Given the description of an element on the screen output the (x, y) to click on. 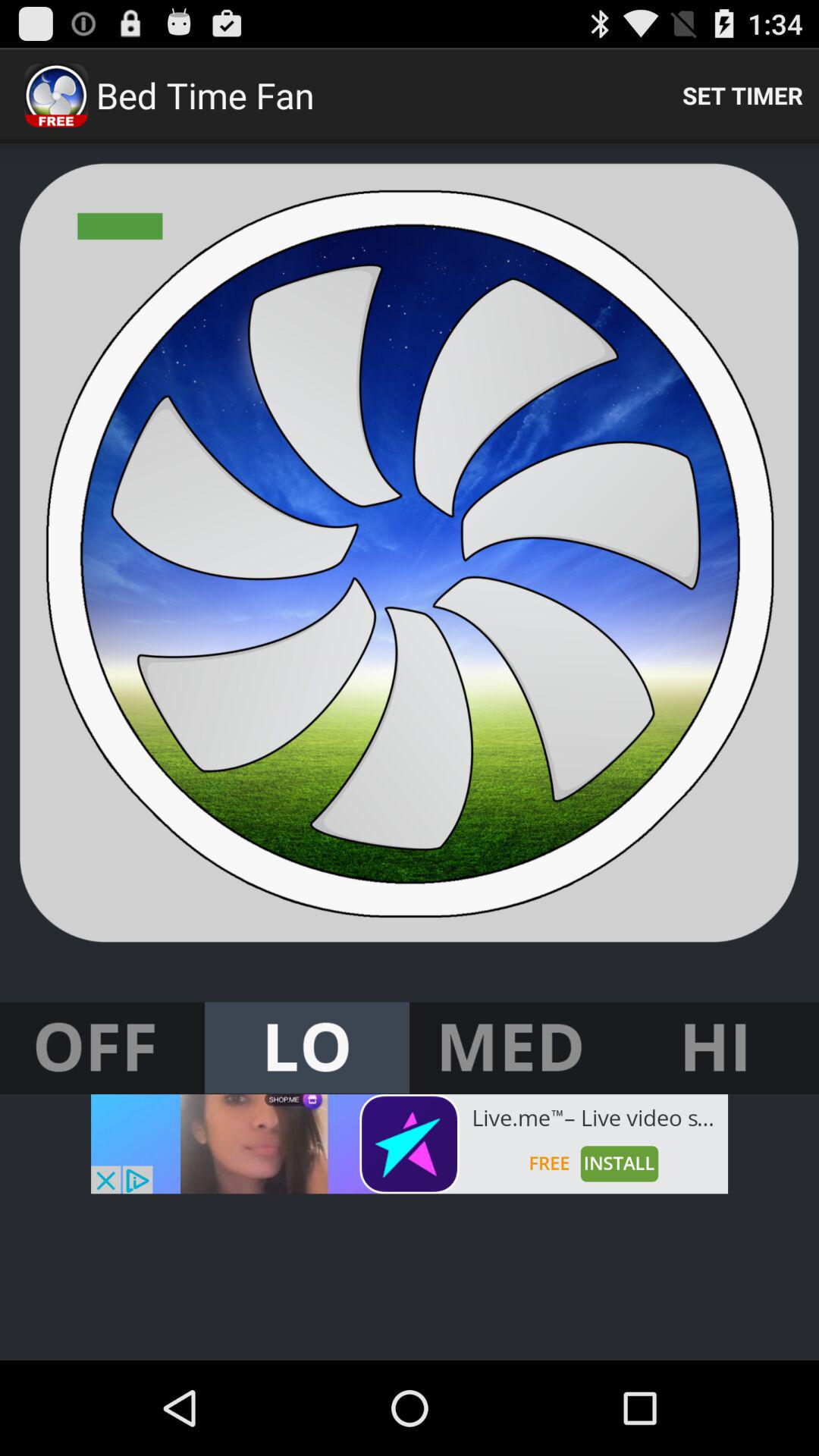
low speed (306, 1048)
